Given the description of an element on the screen output the (x, y) to click on. 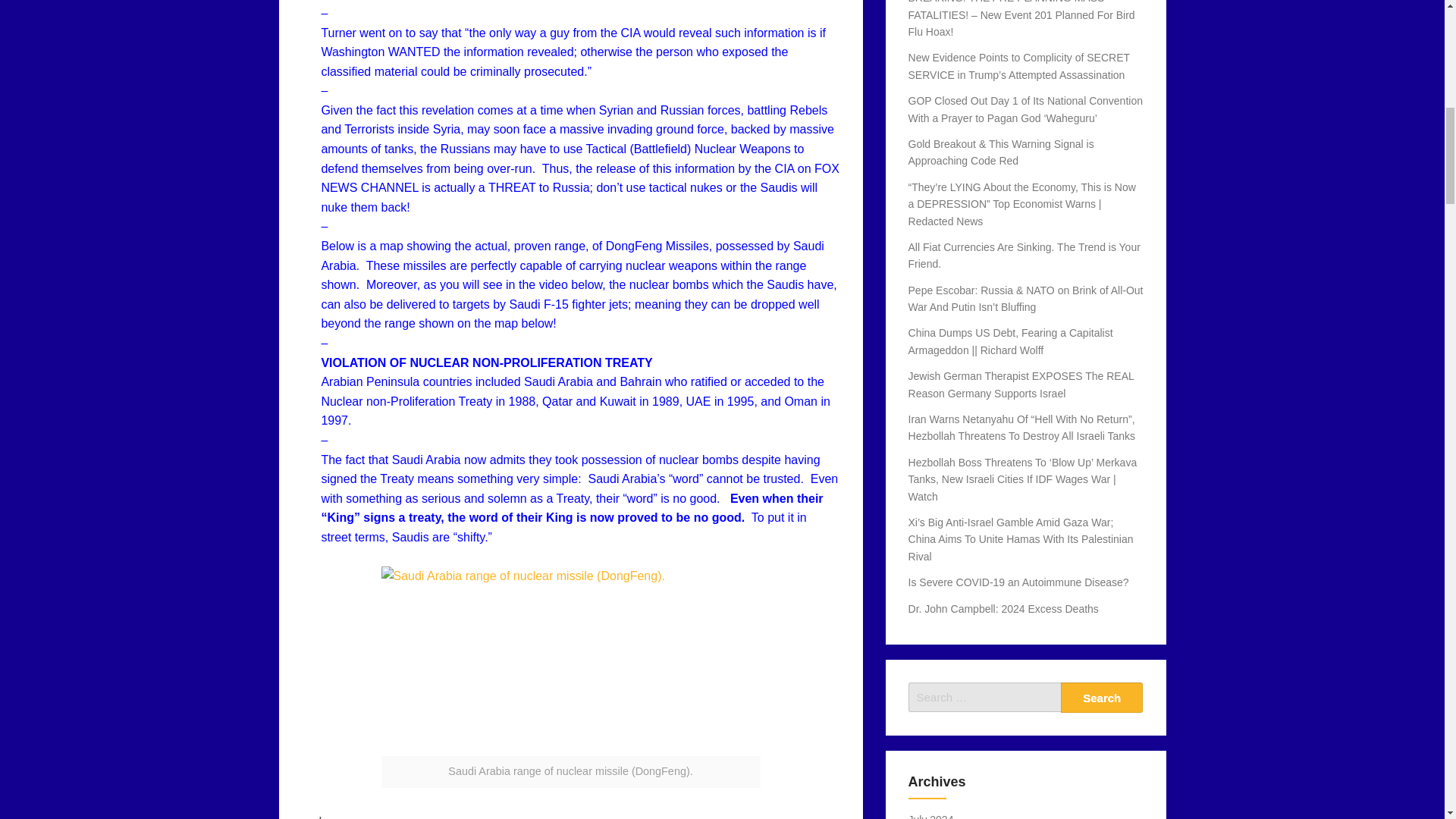
Search (1101, 697)
Search (1101, 697)
Search (1101, 697)
July 2024 (930, 816)
Is Severe COVID-19 an Autoimmune Disease? (1018, 582)
Dr. John Campbell: 2024 Excess Deaths (1003, 608)
All Fiat Currencies Are Sinking. The Trend is Your Friend. (1024, 255)
